Given the description of an element on the screen output the (x, y) to click on. 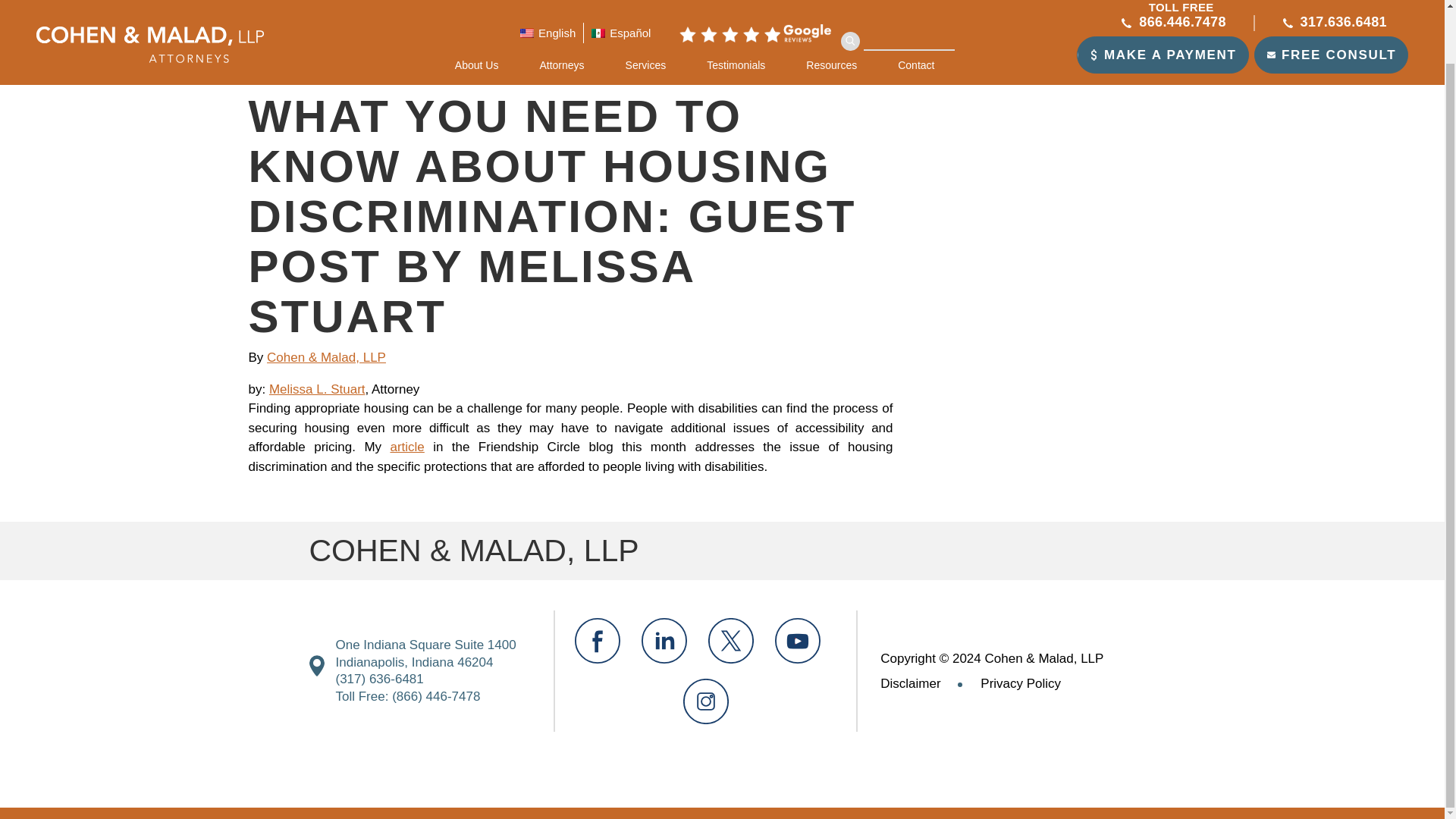
Resources (831, 7)
Services (646, 7)
Contact (916, 7)
Testimonials (735, 7)
Attorneys (561, 7)
About Us (486, 7)
Melissa L. Stuart (317, 389)
FREE CONSULT (1330, 7)
Our Blog (322, 64)
MAKE A PAYMENT (1163, 7)
